Given the description of an element on the screen output the (x, y) to click on. 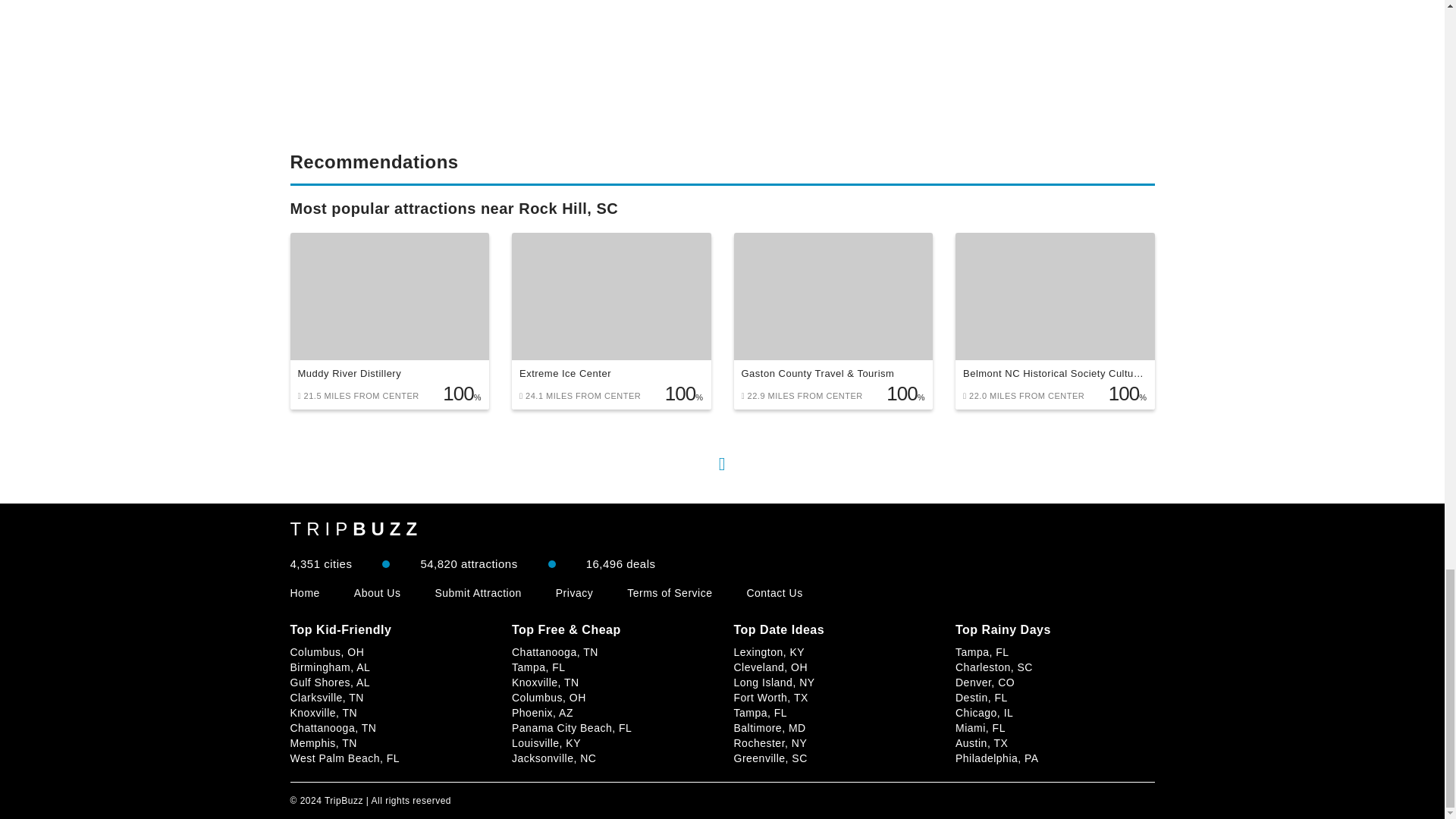
Terms of Service (669, 592)
TRIPBUZZ (355, 529)
Home (303, 592)
Submit Attraction (477, 592)
Privacy (574, 592)
About Us (377, 592)
Privacy (574, 592)
About (377, 592)
